Given the description of an element on the screen output the (x, y) to click on. 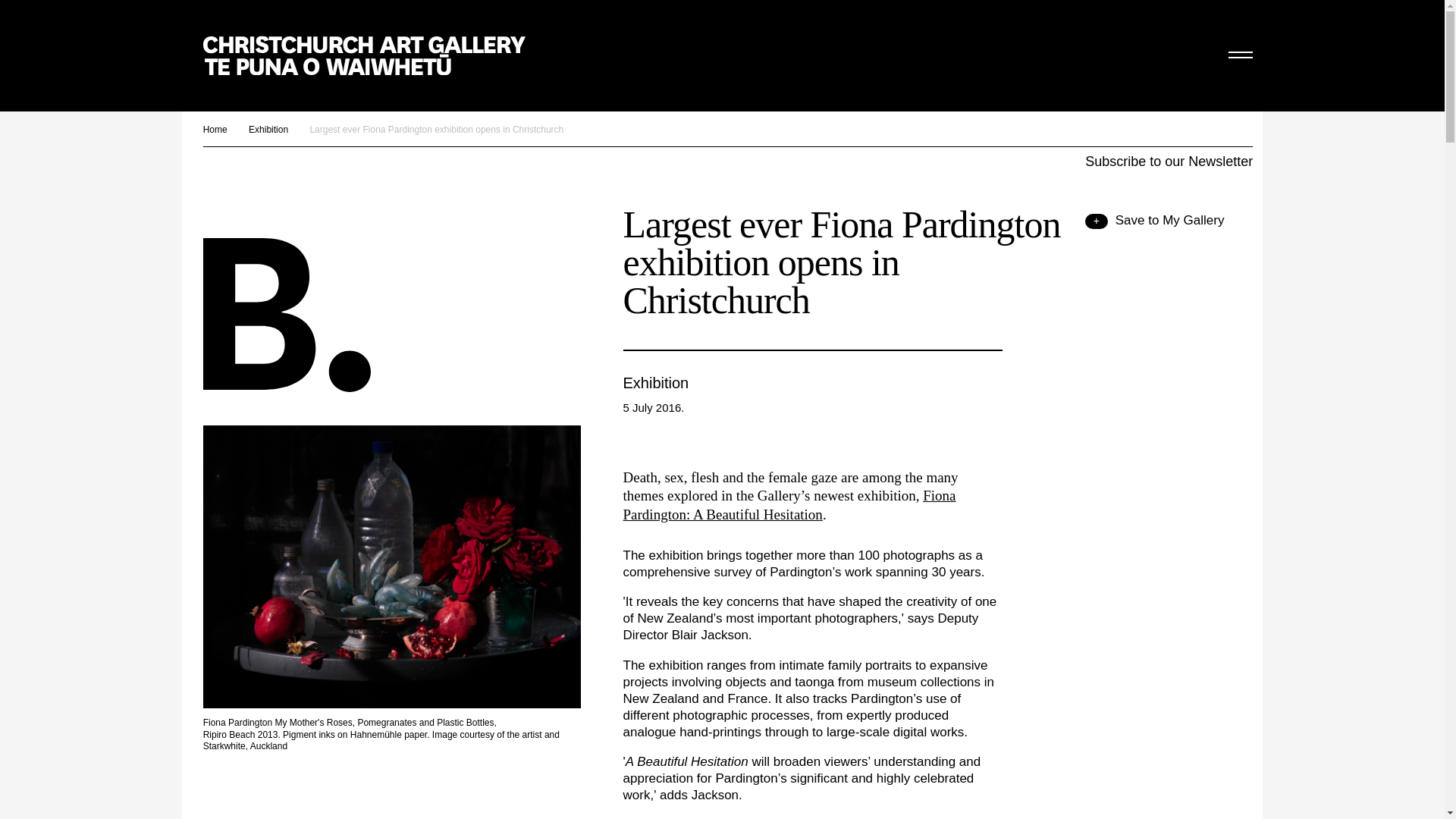
Home (215, 129)
Fiona Pardington: A Beautiful Hesitation (789, 504)
Exhibition (268, 129)
Subscribe to our Newsletter (1168, 160)
Save to My Gallery (1154, 219)
